Given the description of an element on the screen output the (x, y) to click on. 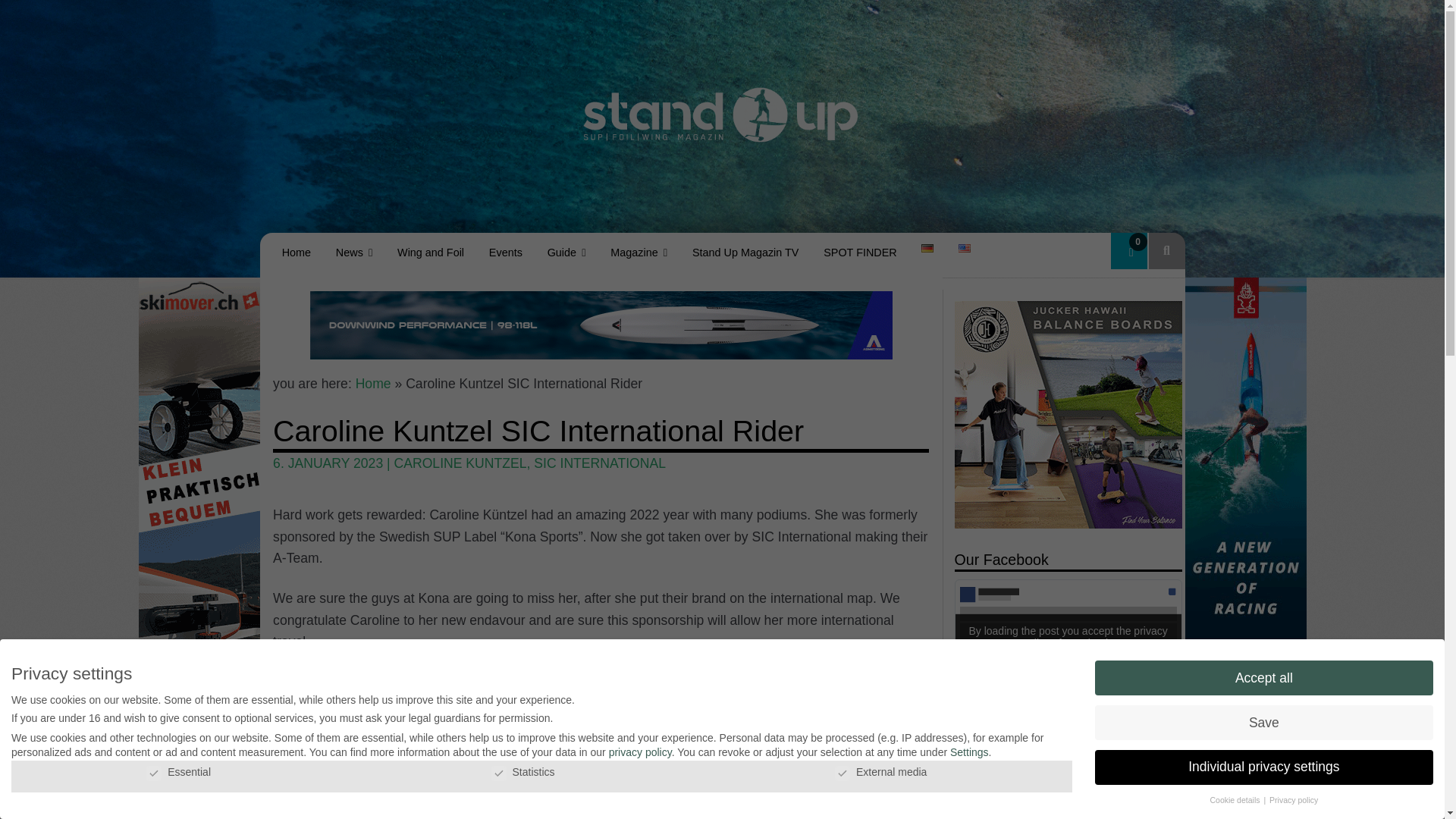
Magazine (638, 251)
1 (1002, 711)
Events (504, 251)
SPOT FINDER (859, 251)
View your shopping cart (1128, 250)
Wing and Foil (431, 251)
Stand Up Magazin TV (745, 251)
News (353, 251)
Home (295, 251)
Guide (565, 251)
